Given the description of an element on the screen output the (x, y) to click on. 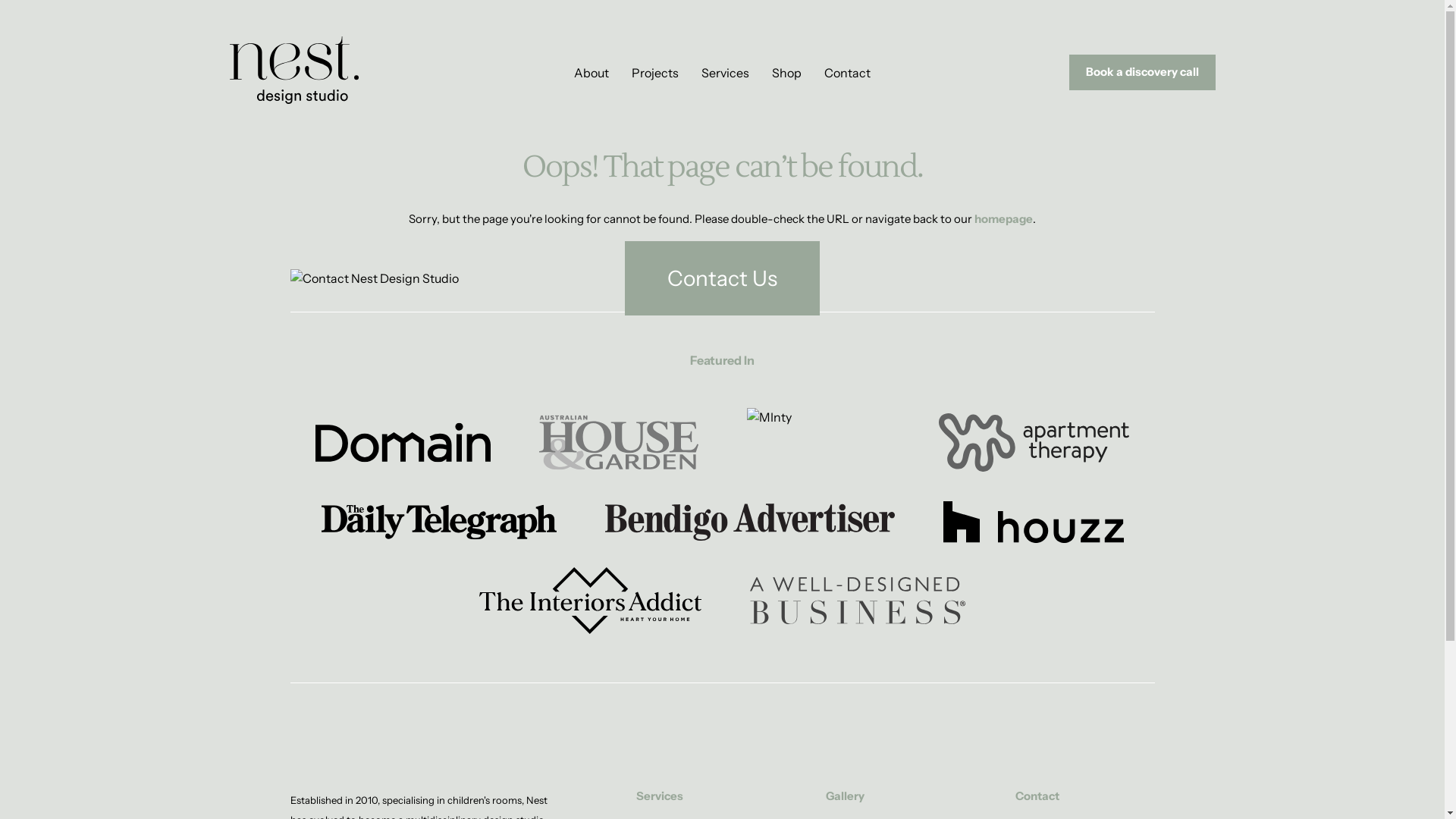
Contact Element type: text (847, 72)
Shop Element type: text (786, 72)
About Element type: text (591, 72)
Contact Us Element type: text (721, 278)
homepage Element type: text (1003, 218)
Book a discovery call Element type: text (1142, 72)
Services Element type: text (725, 72)
Projects Element type: text (654, 72)
